Given the description of an element on the screen output the (x, y) to click on. 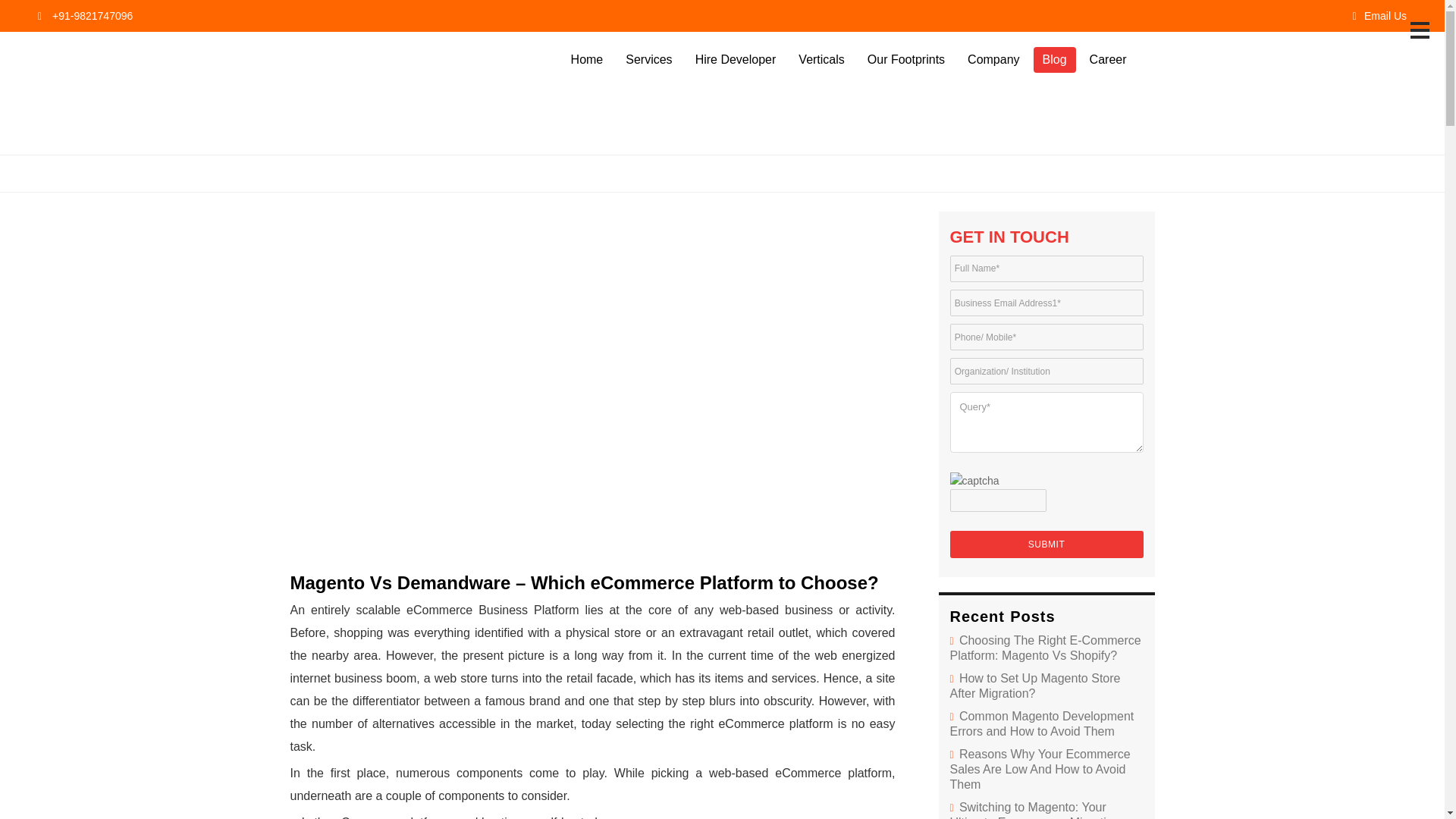
Email Us (1379, 15)
Verticals (821, 59)
Submit (1045, 543)
Our Footprints (906, 59)
Services (648, 59)
Career (1107, 59)
Home (587, 59)
Blog (1054, 59)
Company (992, 59)
Hire Developer (735, 59)
